Given the description of an element on the screen output the (x, y) to click on. 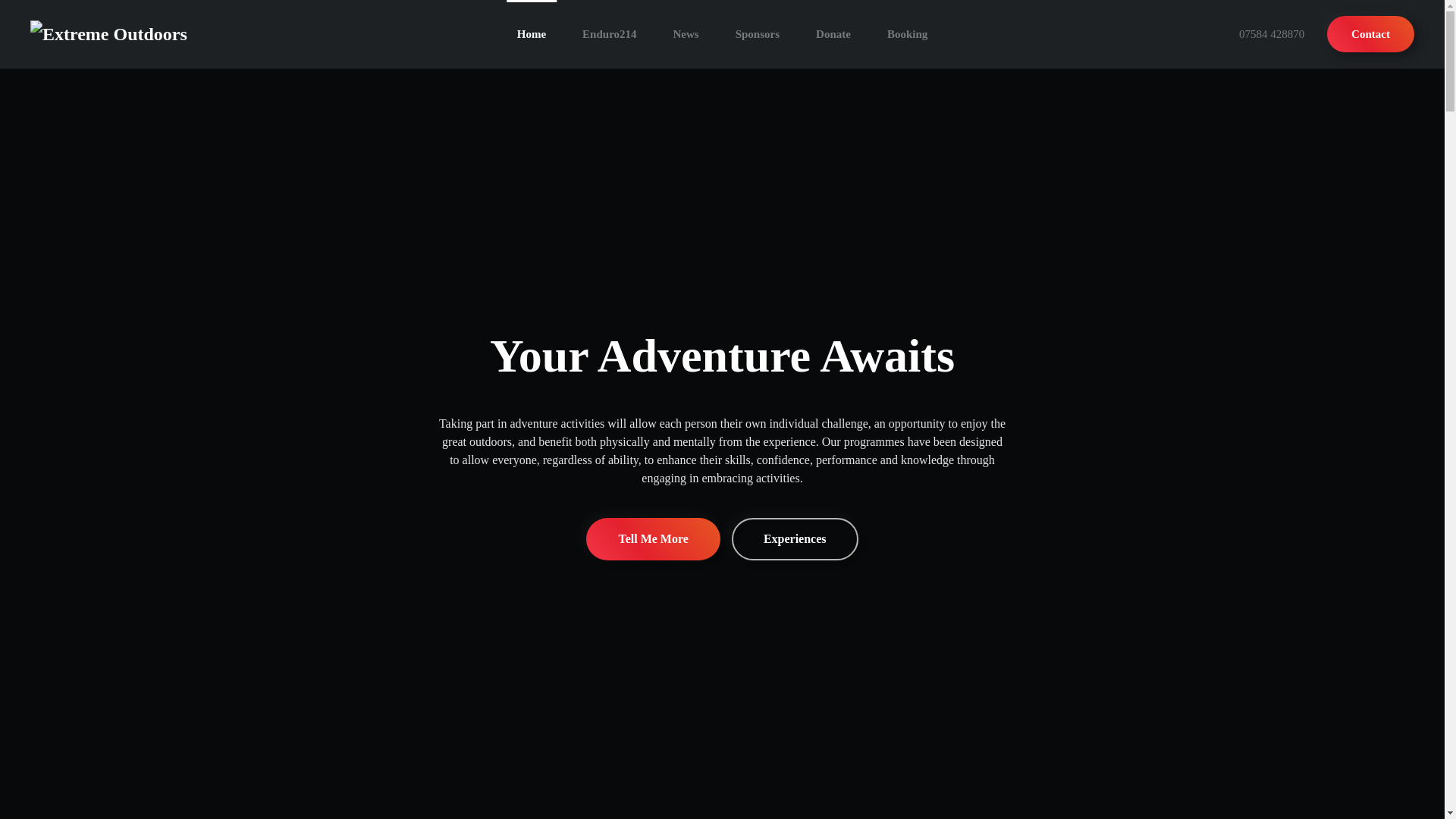
Enduro214 (609, 33)
Our Outdoor Experiences (795, 538)
Contact (1369, 33)
Tell Me More (652, 538)
Experiences (795, 538)
Booking (906, 33)
More About Our Outdoor Expeditions (652, 538)
Sponsors (757, 33)
07584 428870 (1271, 34)
Contact Extreme Outdoors (1369, 33)
